Given the description of an element on the screen output the (x, y) to click on. 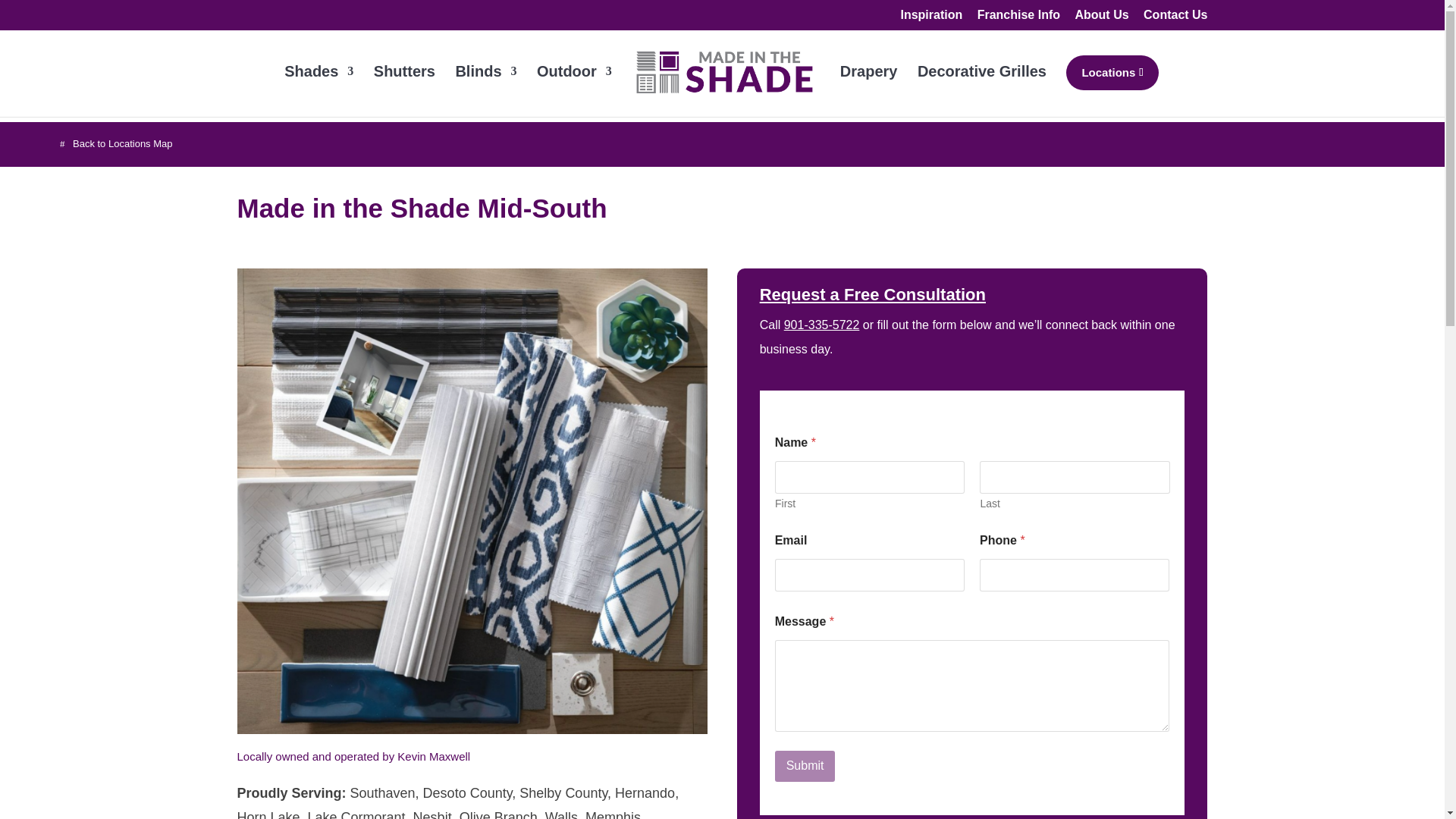
About Us (1101, 19)
Drapery (869, 87)
Custom Window Shutters (404, 87)
Franchise Info (1017, 19)
Custom Window Shades (318, 87)
Contact Us (1174, 19)
Decorative Grilles (981, 87)
Inspiration (930, 19)
Locations (1111, 72)
Outdoor Window Shades (574, 87)
Outdoor (574, 87)
Shades (318, 87)
Custom Window Blinds (485, 87)
Blinds (485, 87)
Shutters (404, 87)
